Given the description of an element on the screen output the (x, y) to click on. 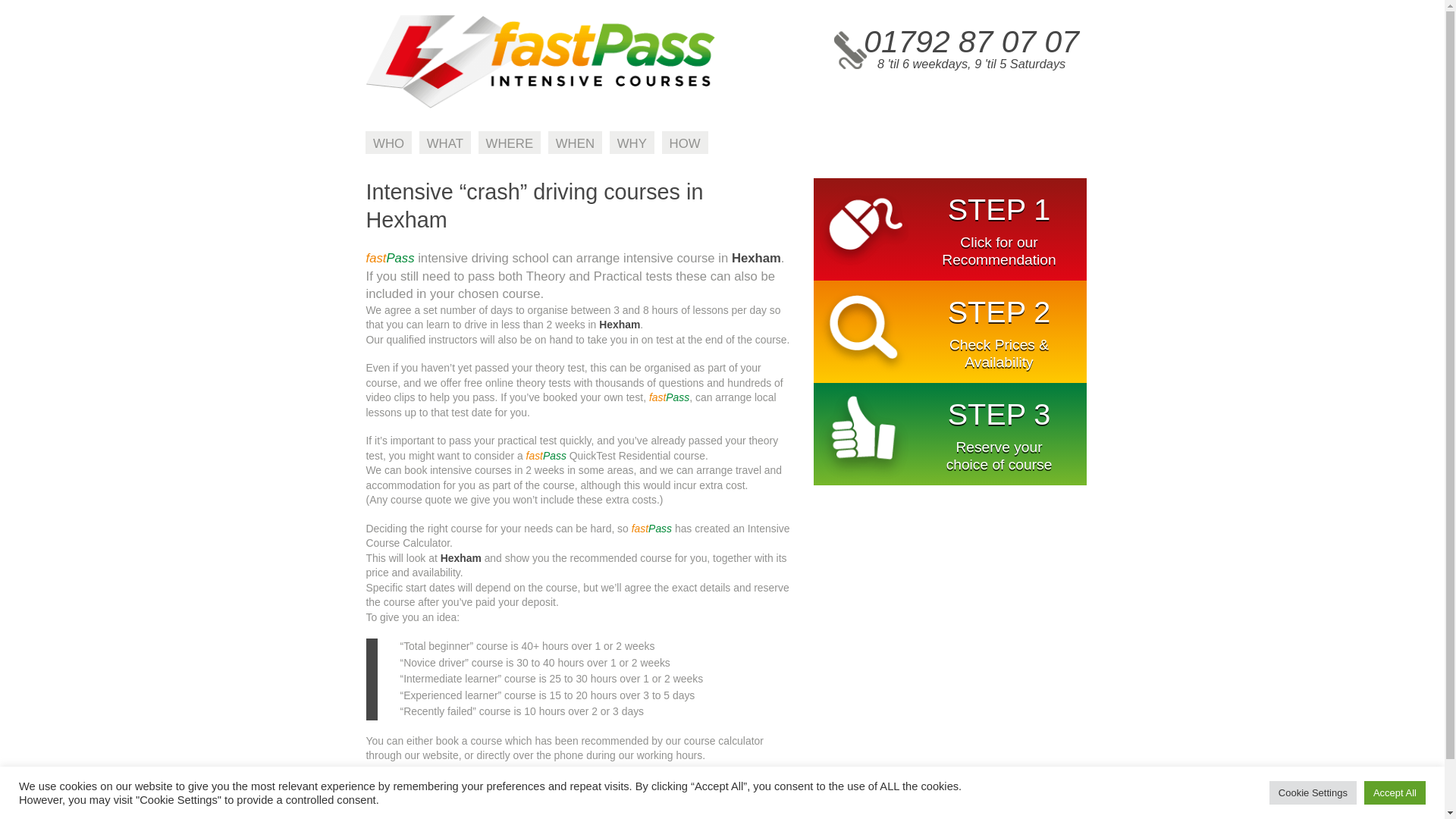
TS AND CS (738, 811)
01792 87 07 07 (970, 41)
BENEFITS (594, 811)
fastPass (539, 104)
HOW (684, 142)
CONTACT US (835, 811)
FAQS (666, 811)
WHO (388, 142)
Accept All (1394, 792)
WHAT (444, 142)
